Given the description of an element on the screen output the (x, y) to click on. 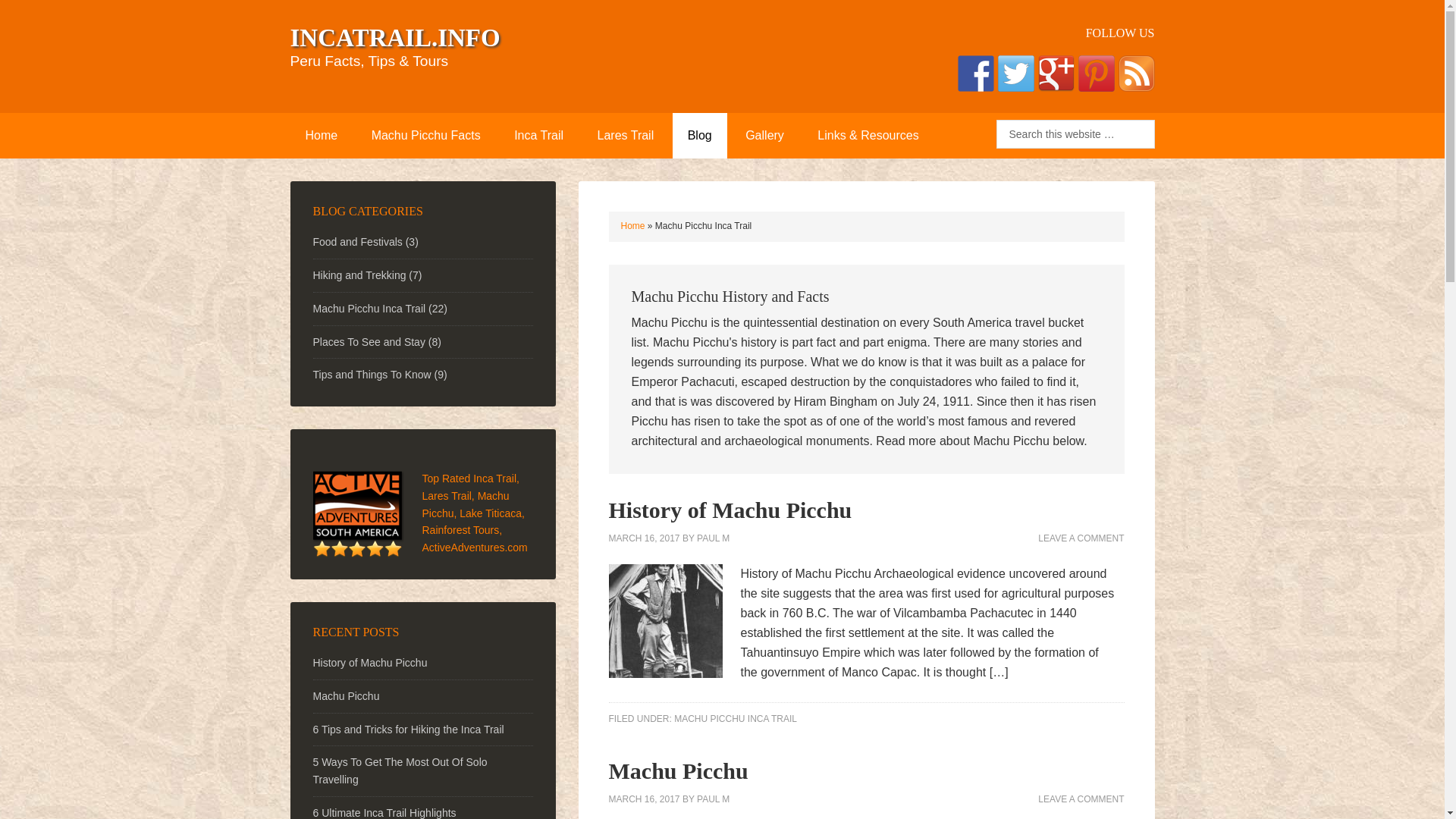
Machu Picchu (678, 770)
Gallery (764, 135)
Follow us on Facebook (974, 73)
Home (320, 135)
PAUL M (713, 538)
PAUL M (713, 798)
INCATRAIL.INFO (394, 37)
Follow us on Twitter (1015, 73)
LEAVE A COMMENT (1081, 798)
History of Machu Picchu (729, 509)
Machu Picchu Facts (426, 135)
MACHU PICCHU INCA TRAIL (735, 718)
Inca Trail (538, 135)
